Given the description of an element on the screen output the (x, y) to click on. 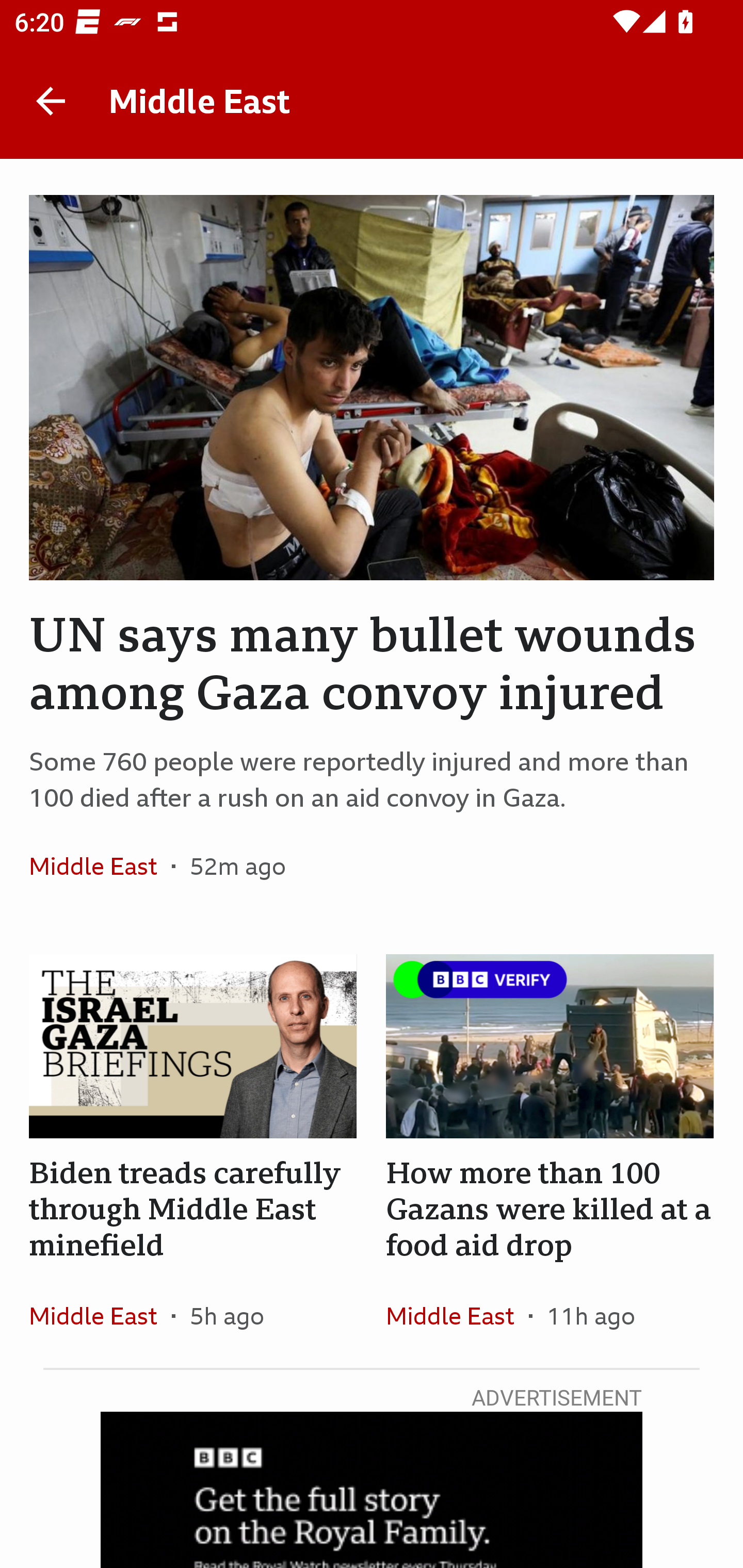
Back (50, 101)
Middle East In the section Middle East (99, 865)
Middle East In the section Middle East (99, 1315)
Middle East In the section Middle East (457, 1315)
